Given the description of an element on the screen output the (x, y) to click on. 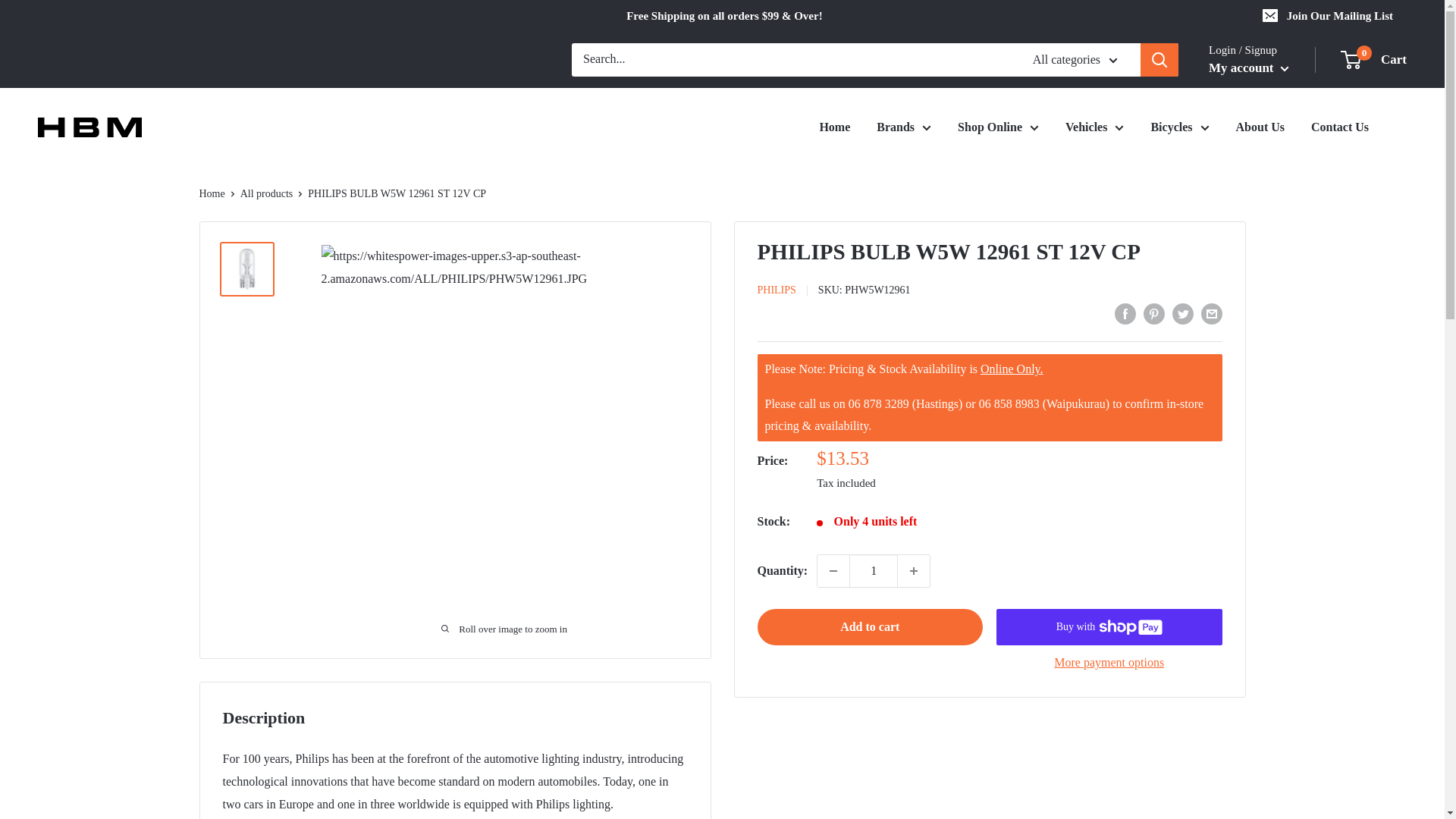
Decrease quantity by 1 (832, 571)
1 (873, 571)
Join Our Mailing List (1328, 15)
My account (1248, 68)
Increase quantity by 1 (914, 571)
